Given the description of an element on the screen output the (x, y) to click on. 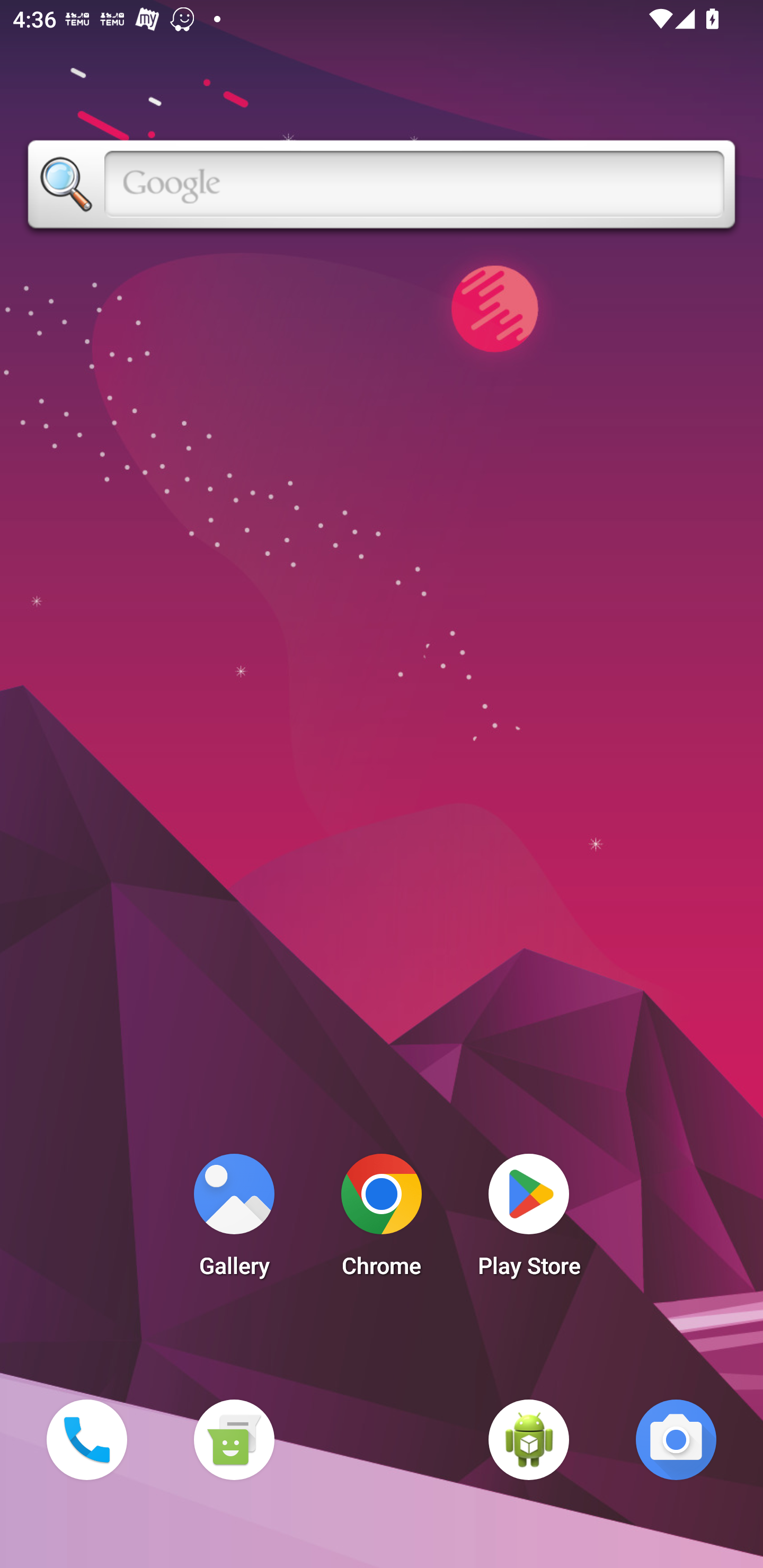
Gallery (233, 1220)
Chrome (381, 1220)
Play Store (528, 1220)
Phone (86, 1439)
Messaging (233, 1439)
WebView Browser Tester (528, 1439)
Camera (676, 1439)
